Given the description of an element on the screen output the (x, y) to click on. 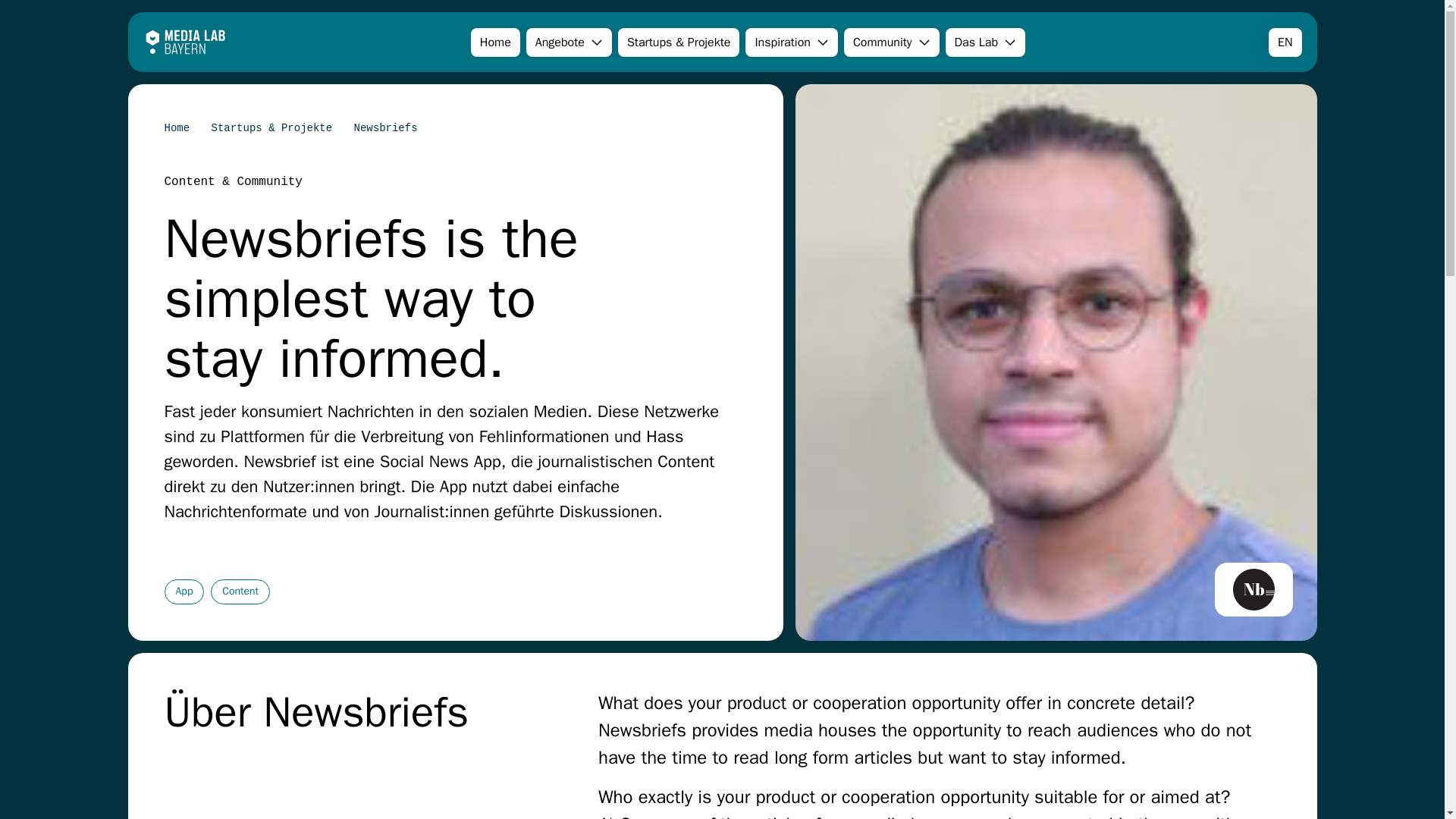
Inspiration (791, 41)
English version (1285, 42)
Content (240, 591)
EN (1284, 41)
Home (494, 41)
Das Lab (985, 41)
Home (176, 128)
Zur Startseite gehen (184, 41)
Newsbriefs (385, 128)
Community (891, 41)
Angebote (568, 41)
App (183, 591)
